Given the description of an element on the screen output the (x, y) to click on. 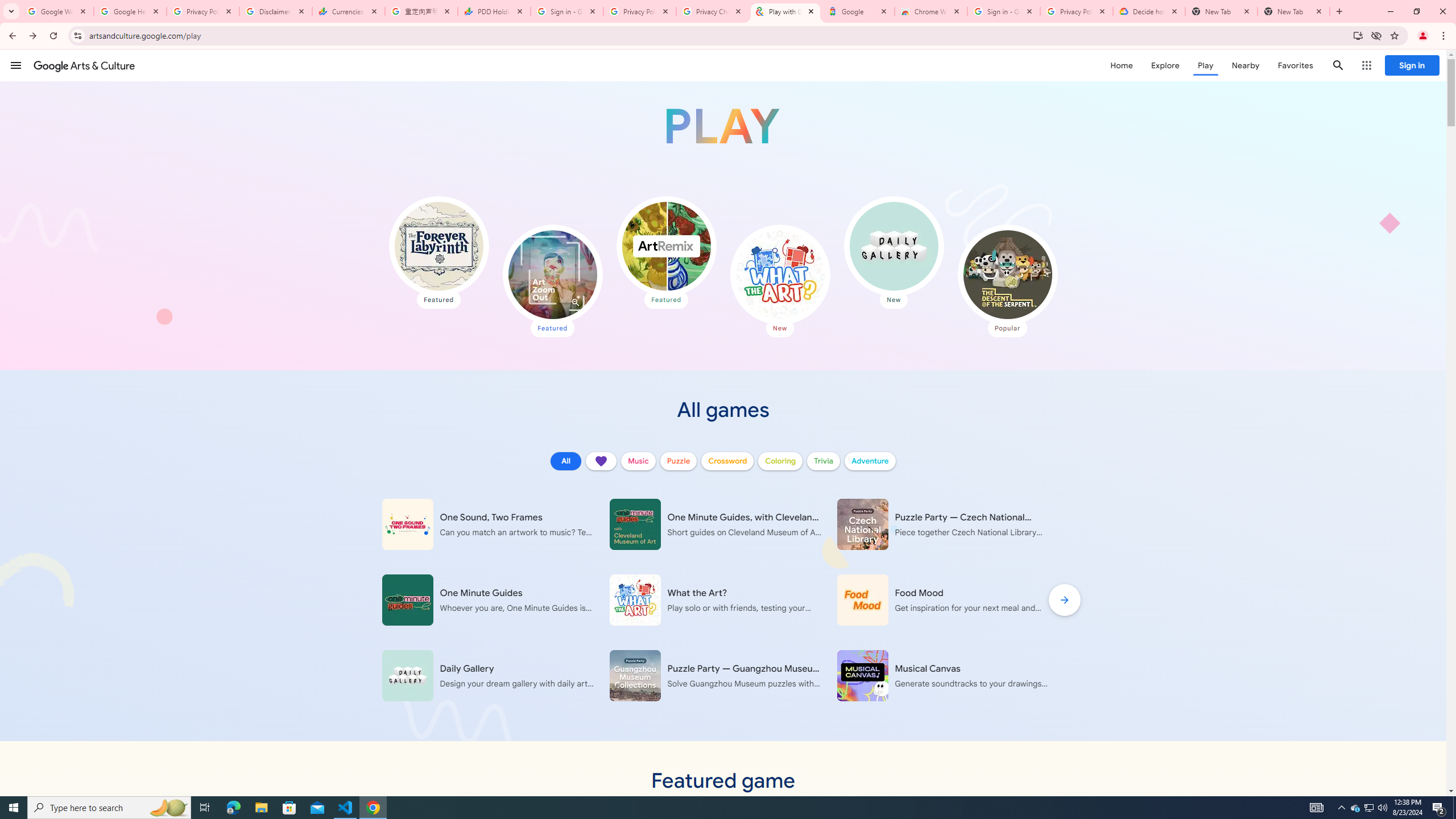
Sign in - Google Accounts (1003, 11)
What the Art? (779, 274)
Privacy Checkup (712, 11)
Art Zoom Out (552, 274)
Menu (15, 65)
Chrome Web Store - Color themes by Chrome (930, 11)
